Given the description of an element on the screen output the (x, y) to click on. 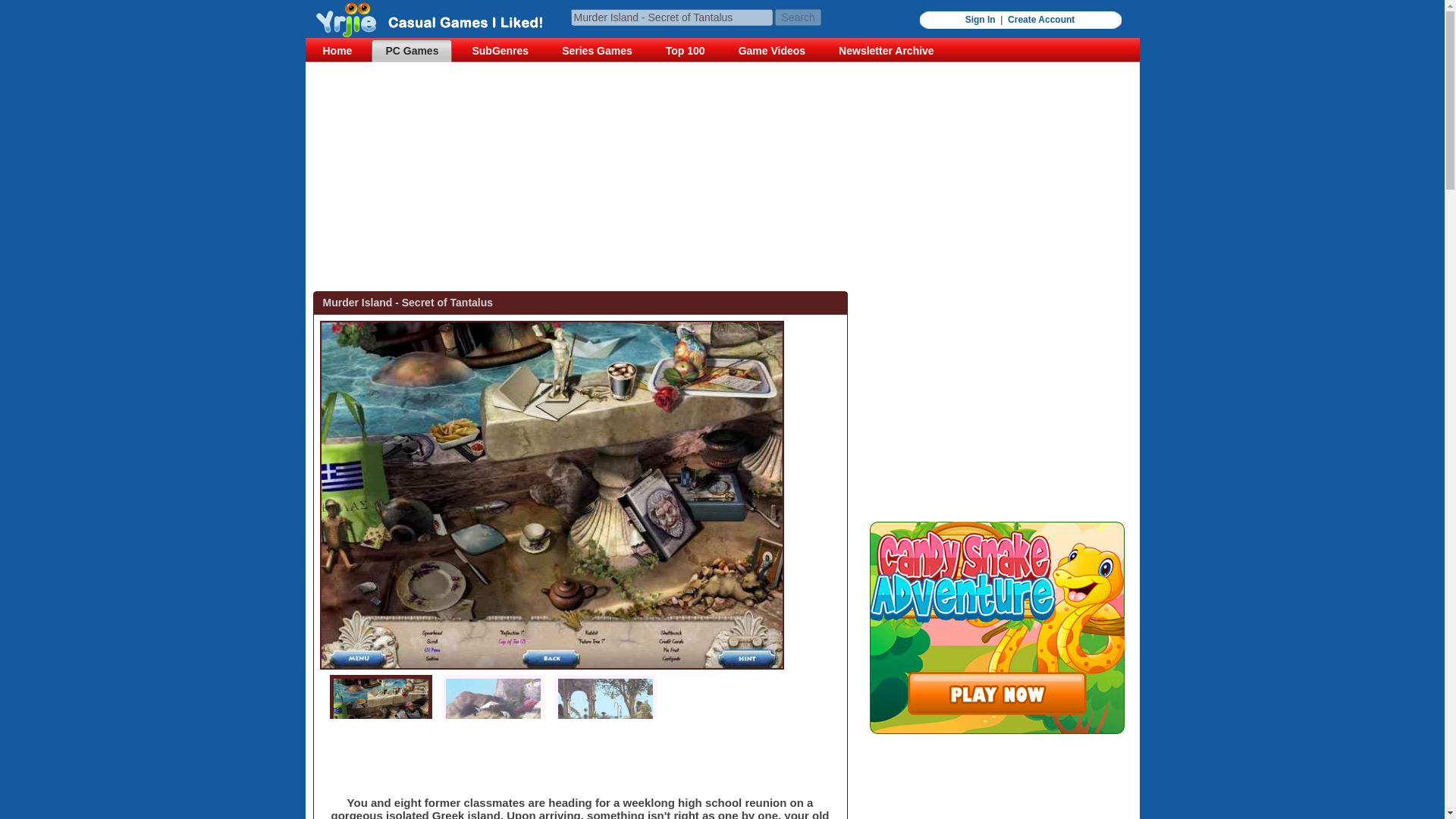
Murder Island - Secret of Tantalus (434, 20)
Top 100 (685, 50)
Murder Island - Secret of Tantalus (670, 17)
Series Games (597, 50)
Game Videos (771, 50)
PC Games (411, 50)
Newsletter Archive (886, 50)
Create Account (1040, 19)
